Given the description of an element on the screen output the (x, y) to click on. 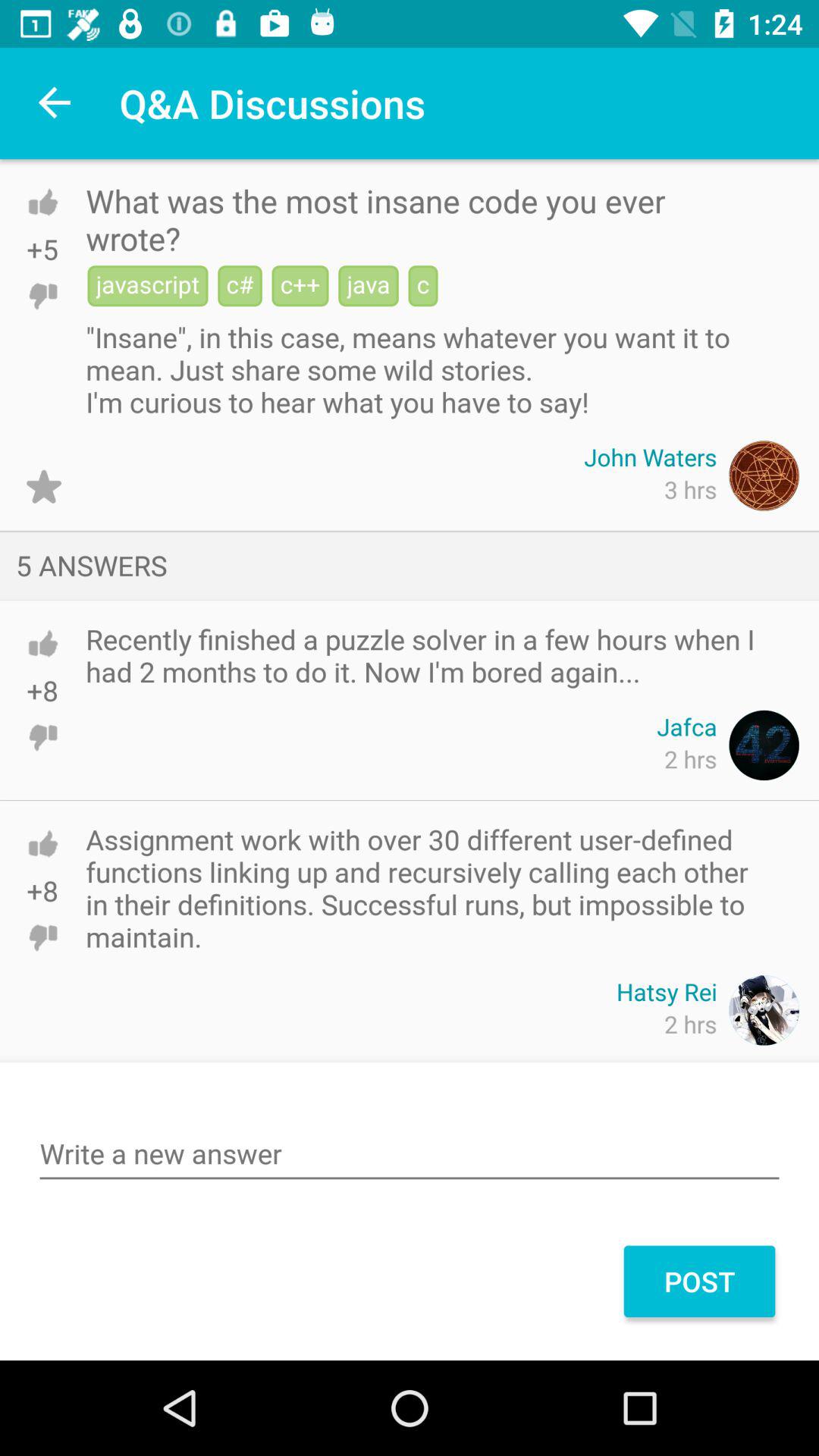
click the button java on the web page (371, 288)
